Given the description of an element on the screen output the (x, y) to click on. 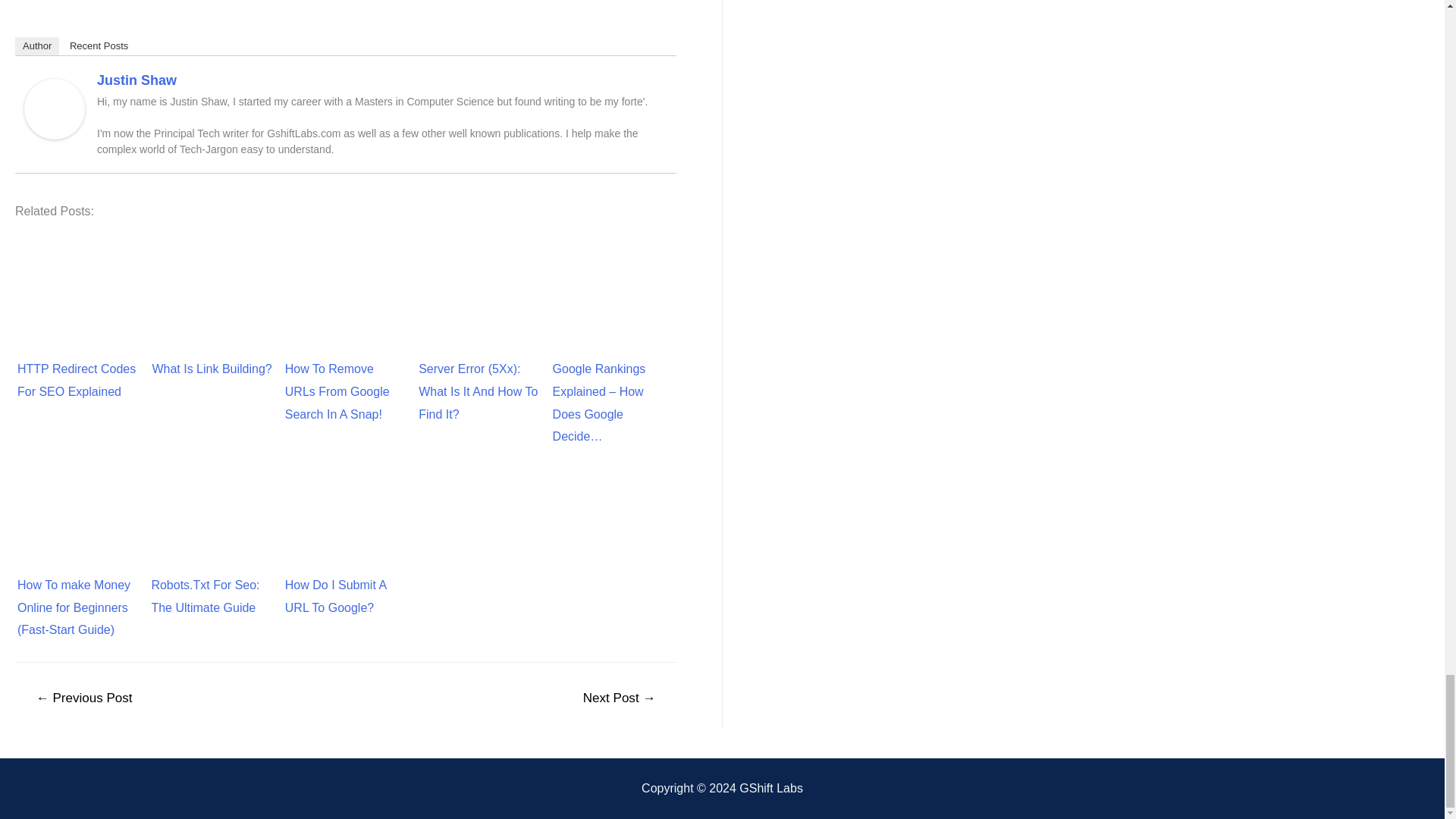
Justin Shaw (54, 107)
How Do I Submit A URL To Google? (345, 498)
What Is Link Building? (212, 282)
Robots.Txt For Seo: The Ultimate Guide (212, 498)
HTTP Redirect Codes For SEO Explained (78, 282)
How To Remove URLs From Google Search In A Snap! (345, 282)
